Given the description of an element on the screen output the (x, y) to click on. 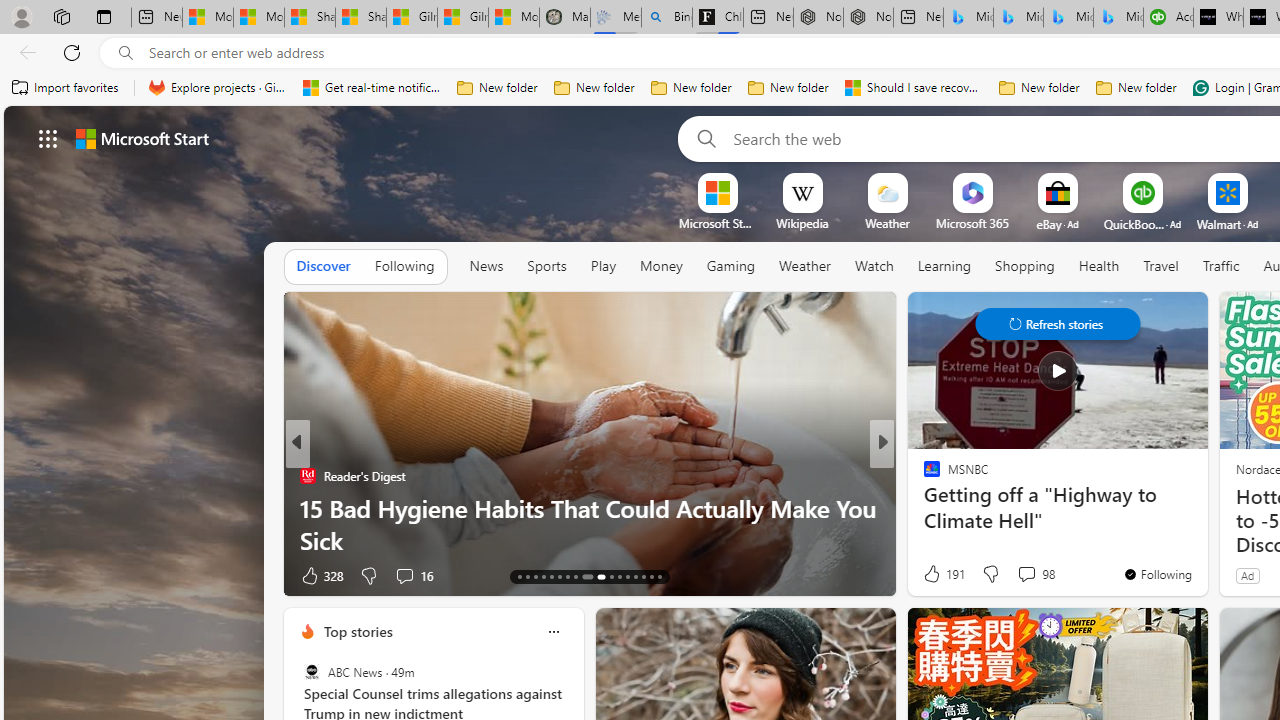
Shopping (1025, 265)
Import favorites (65, 88)
AutomationID: waffle (47, 138)
Shopping (1025, 267)
View comments 16 Comment (413, 574)
What's the best AI voice generator? - voice.ai (1218, 17)
Class: icon-img (553, 632)
Accounting Software for Accountants, CPAs and Bookkeepers (1168, 17)
AutomationID: tab-17 (550, 576)
29 Like (934, 574)
AutomationID: tab-28 (650, 576)
FamilyProof (923, 475)
Manatee Mortality Statistics | FWC (565, 17)
